Given the description of an element on the screen output the (x, y) to click on. 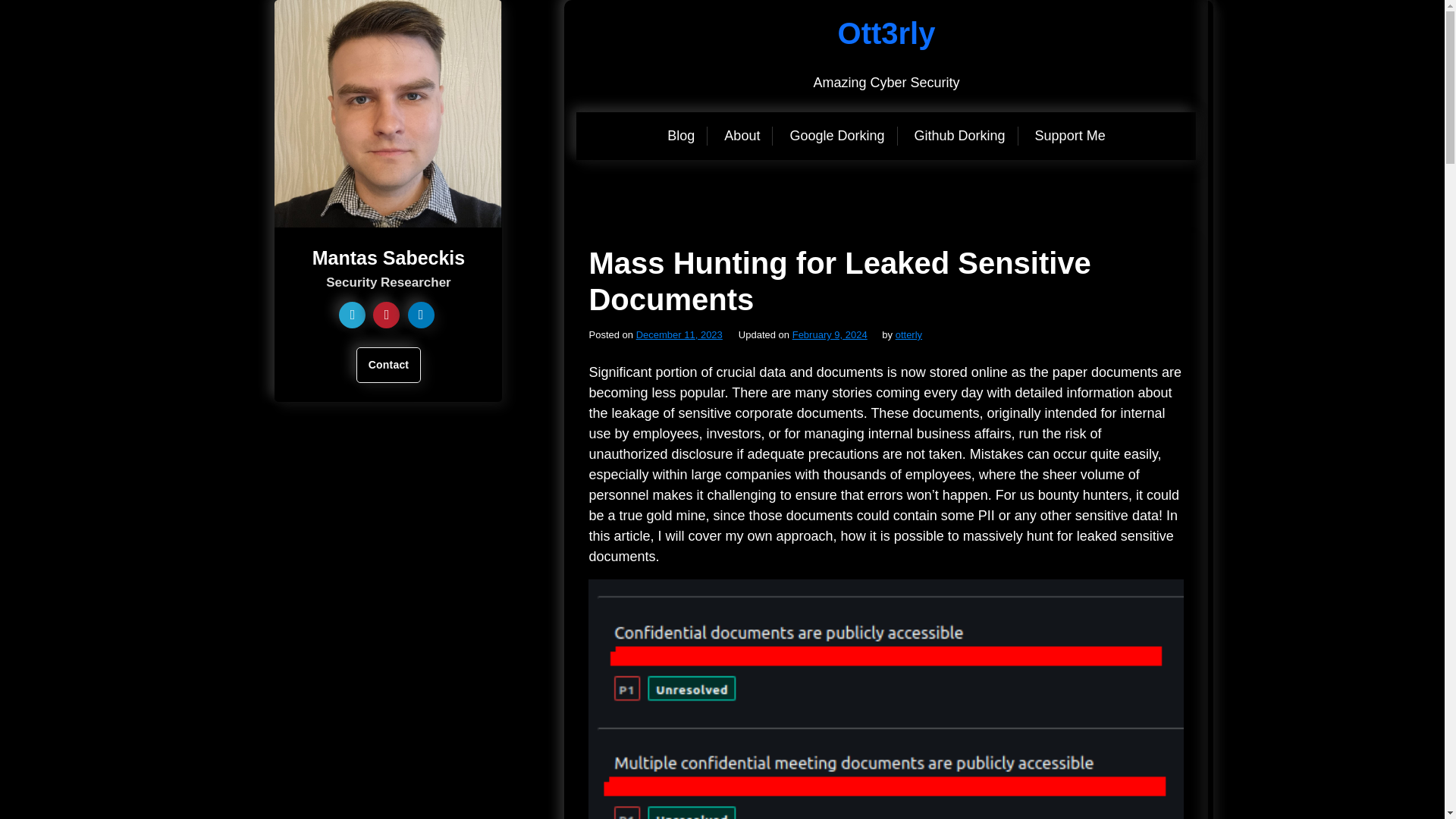
Ott3rly (887, 33)
Github Dorking (959, 136)
Blog (681, 136)
February 9, 2024 (829, 334)
Google Dorking (836, 136)
December 11, 2023 (679, 334)
About (742, 136)
Contact (389, 365)
Support Me (1069, 136)
otterly (908, 334)
